Given the description of an element on the screen output the (x, y) to click on. 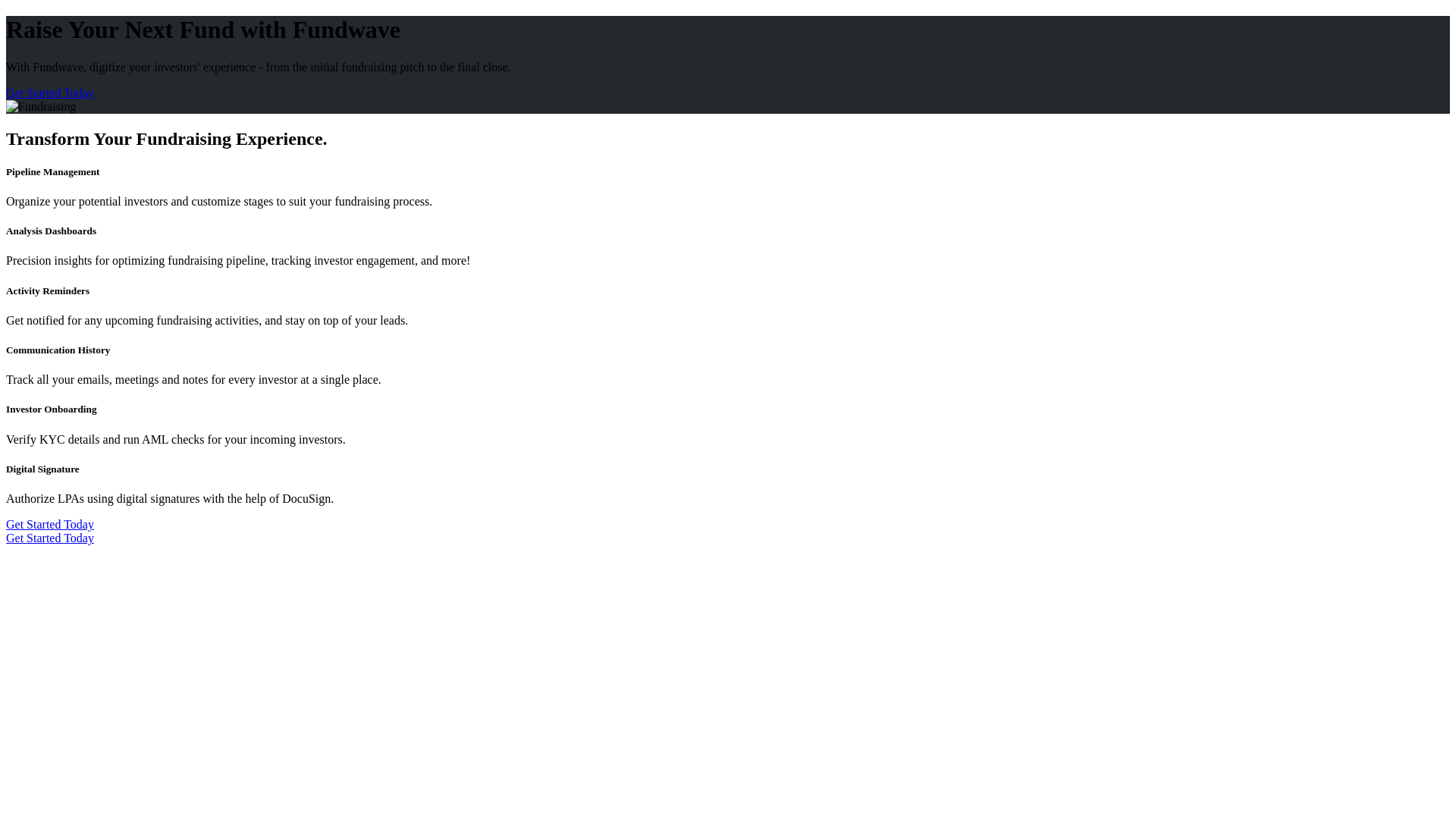
Get Started Today (49, 523)
Get Started Today (49, 92)
Get Started Today (49, 537)
